Given the description of an element on the screen output the (x, y) to click on. 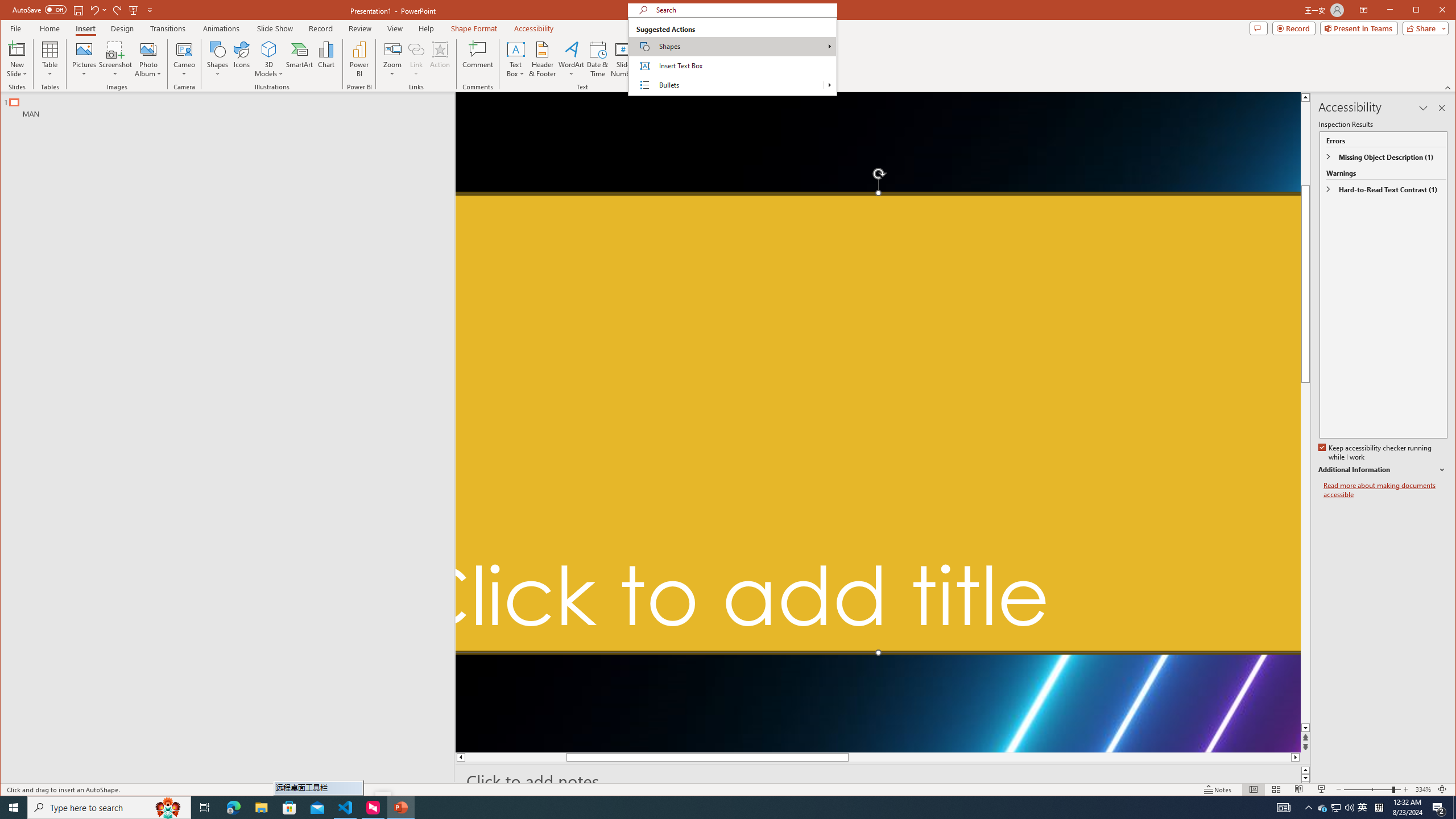
Audio (770, 59)
Table (49, 59)
Action (440, 59)
Outline (231, 104)
